Given the description of an element on the screen output the (x, y) to click on. 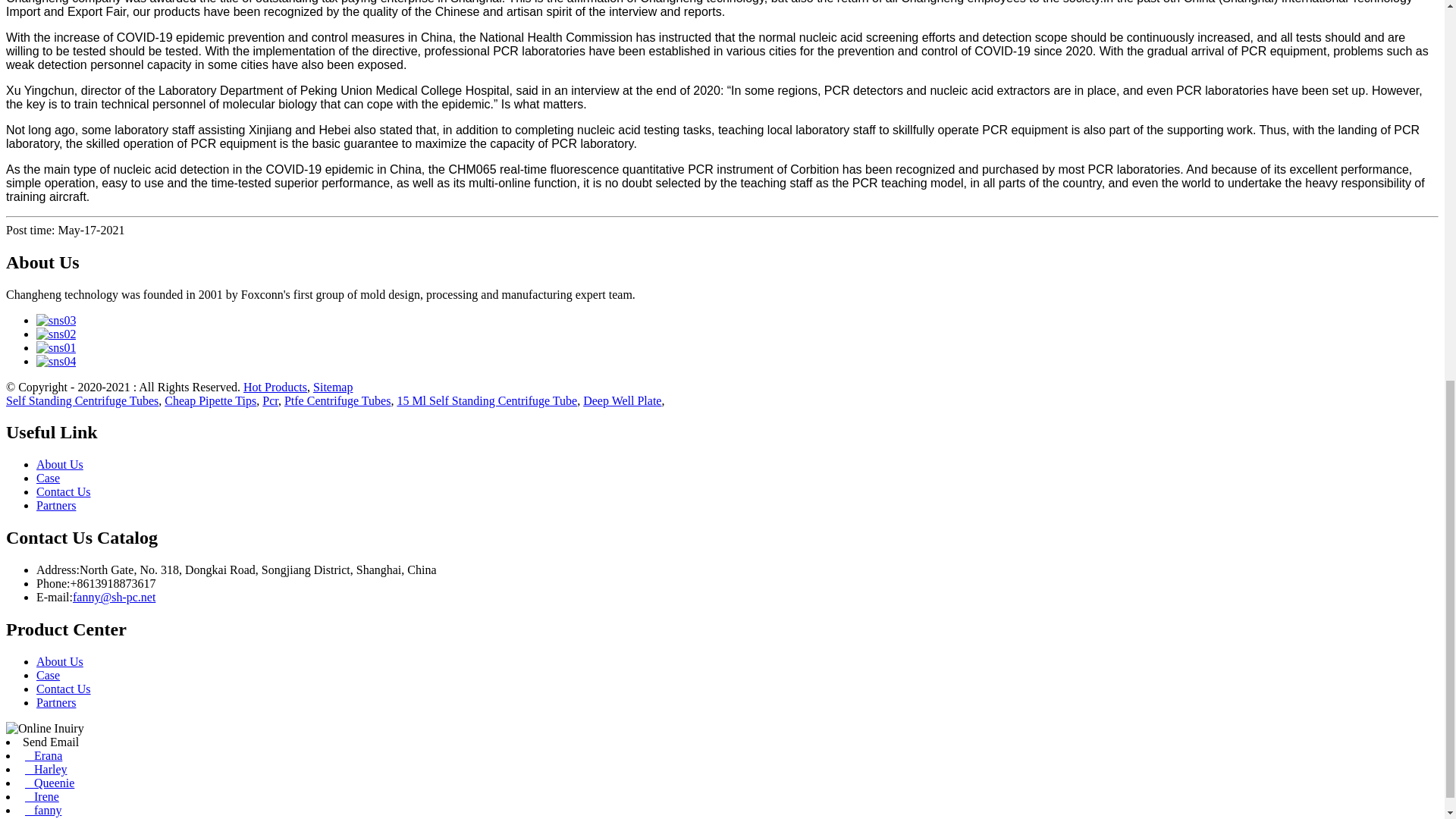
Self Standing Centrifuge Tubes (81, 399)
Cheap Pipette Tips (210, 399)
Sitemap (332, 386)
Pcr (270, 399)
Deep Well Plate (622, 399)
15 Ml Self Standing Centrifuge Tube (486, 399)
Ptfe Centrifuge Tubes (336, 399)
Hot Products (275, 386)
